Given the description of an element on the screen output the (x, y) to click on. 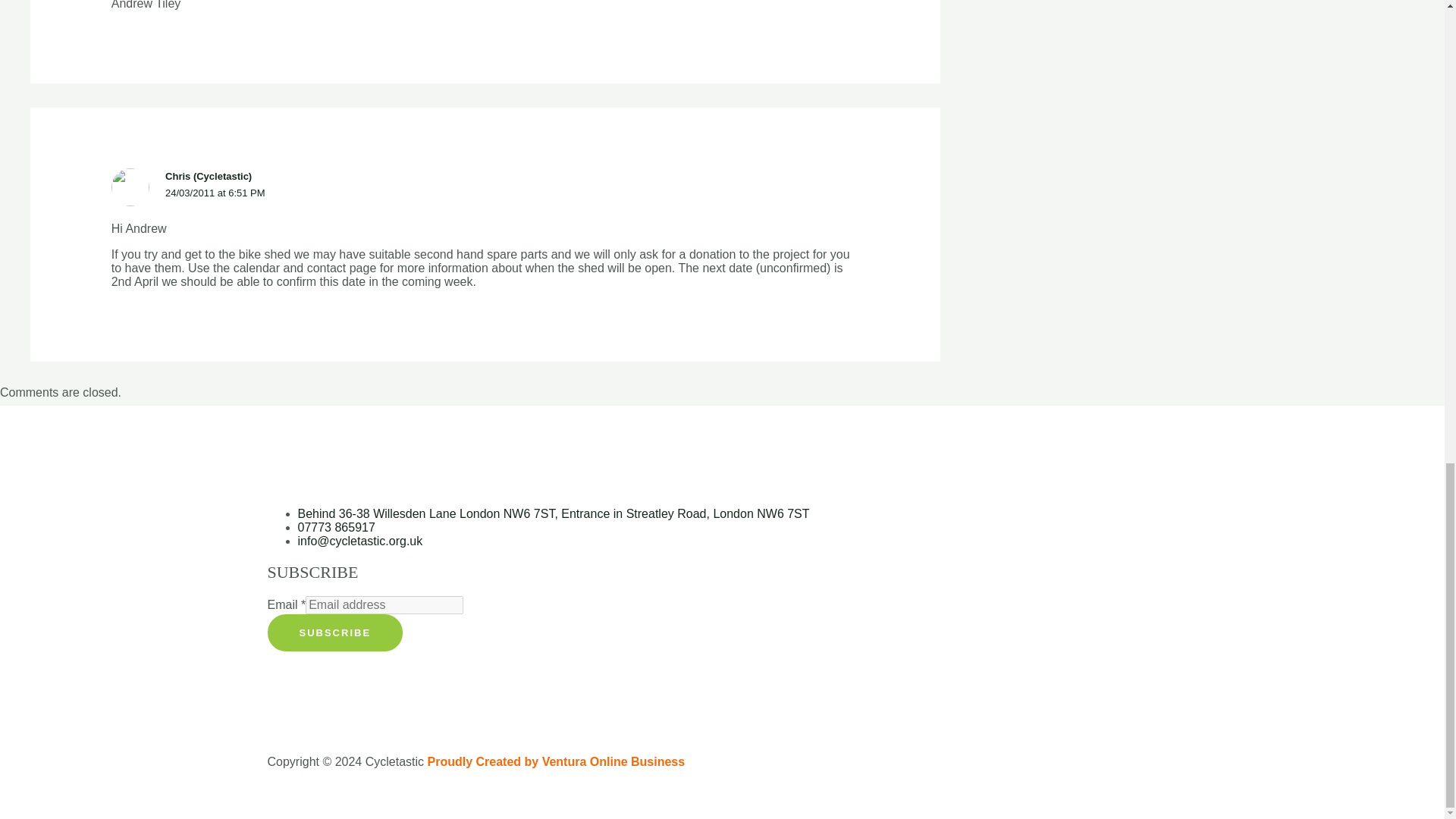
07773 865917 (335, 526)
SUBSCRIBE (334, 632)
Proudly Created by Ventura Online Business (556, 761)
